Given the description of an element on the screen output the (x, y) to click on. 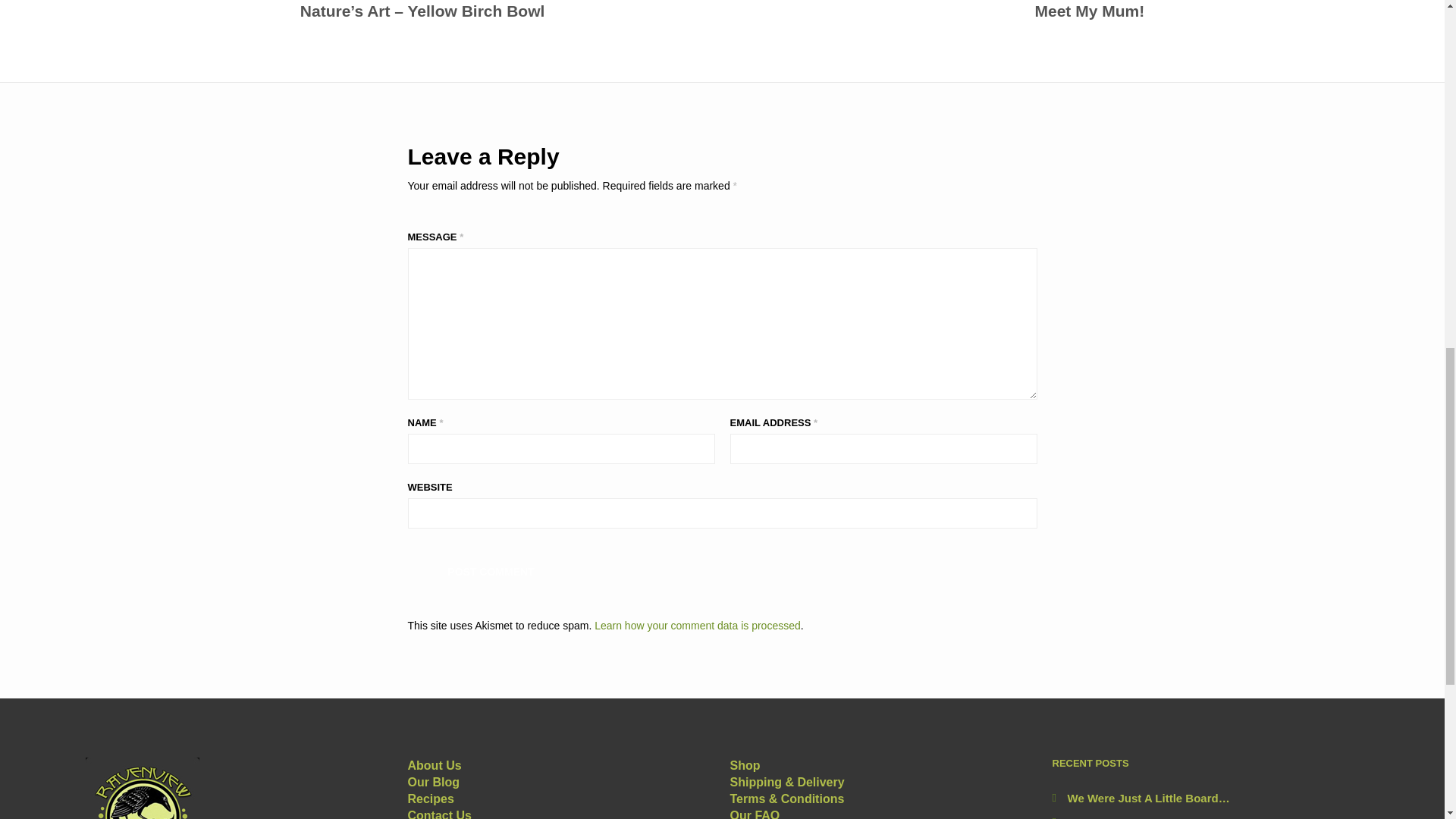
Recipes (430, 798)
Learn how your comment data is processed (697, 625)
Our FAQ (1088, 12)
About Us (753, 814)
Post Comment (434, 765)
Shop (491, 571)
Contact Us (744, 765)
Post Comment (439, 814)
Our Blog (491, 571)
